Given the description of an element on the screen output the (x, y) to click on. 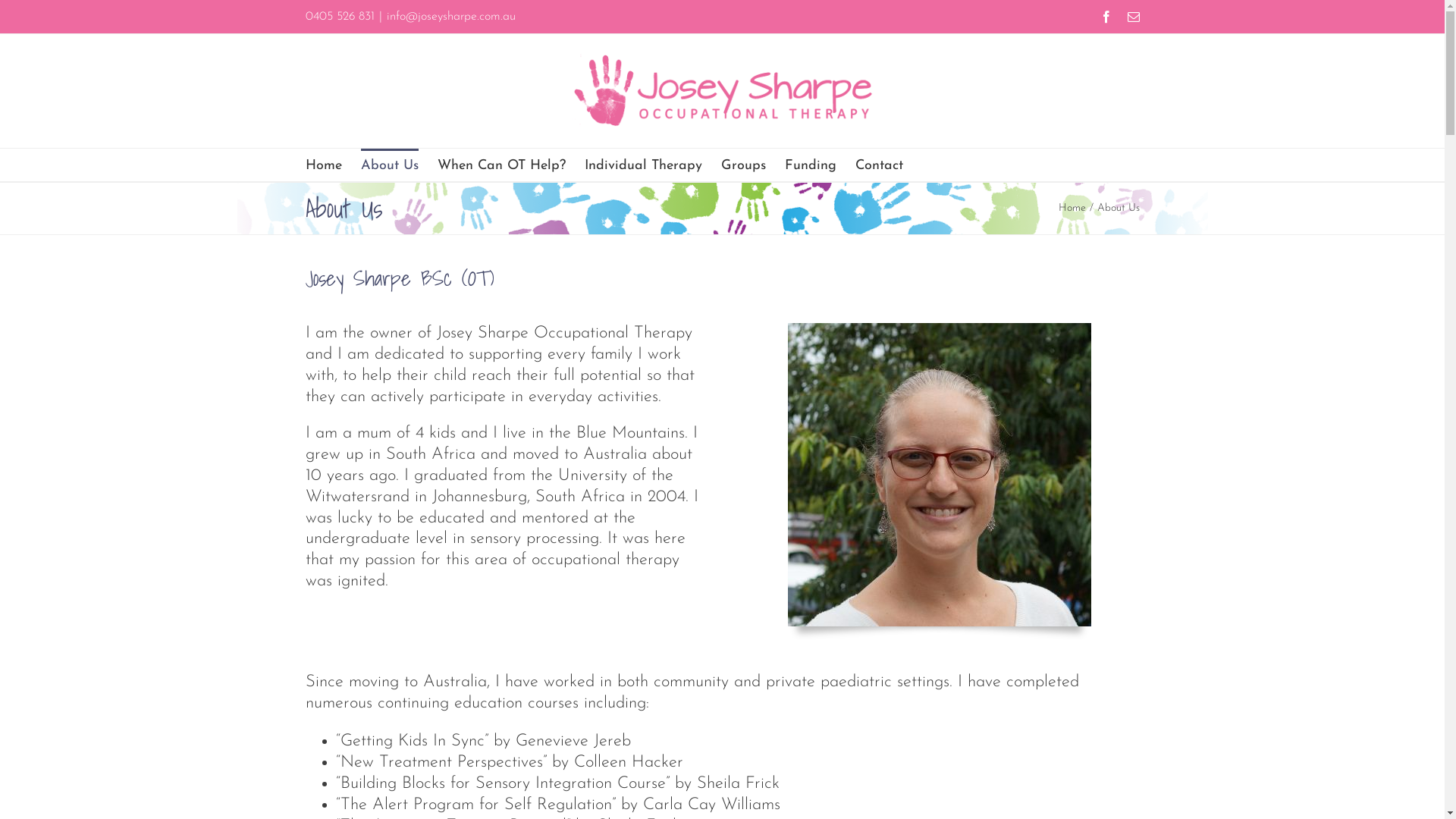
When Can OT Help? Element type: text (500, 164)
0405 526 831 Element type: text (338, 16)
Home Element type: text (1071, 207)
Home Element type: text (322, 164)
info@joseysharpe.com.au Element type: text (450, 16)
Groups Element type: text (742, 164)
Email Element type: text (1132, 16)
josey-profile-sm Element type: hover (938, 474)
Contact Element type: text (879, 164)
Funding Element type: text (809, 164)
Facebook Element type: text (1105, 16)
About Us Element type: text (389, 164)
Individual Therapy Element type: text (642, 164)
